Given the description of an element on the screen output the (x, y) to click on. 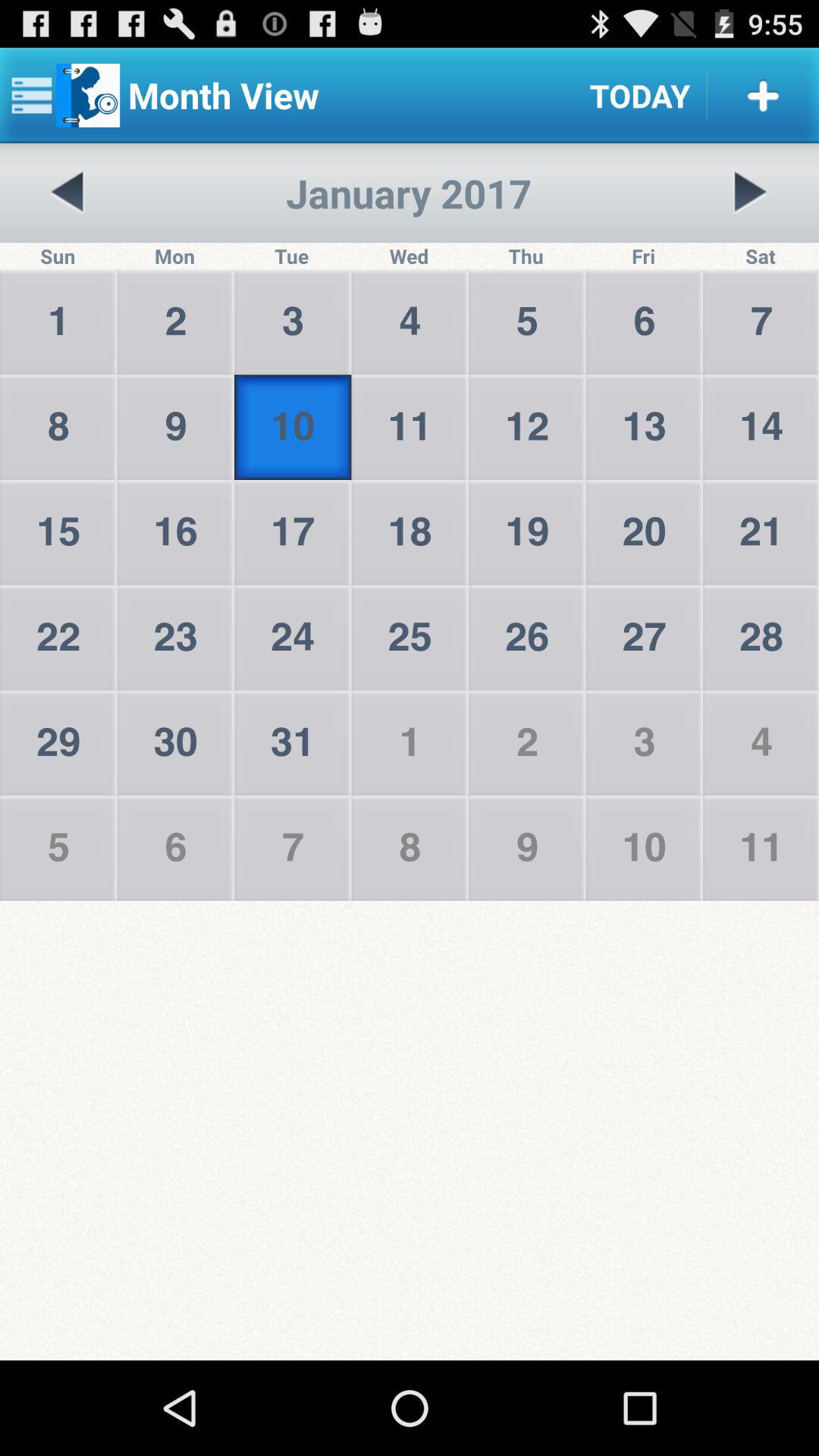
go back a month (67, 192)
